Given the description of an element on the screen output the (x, y) to click on. 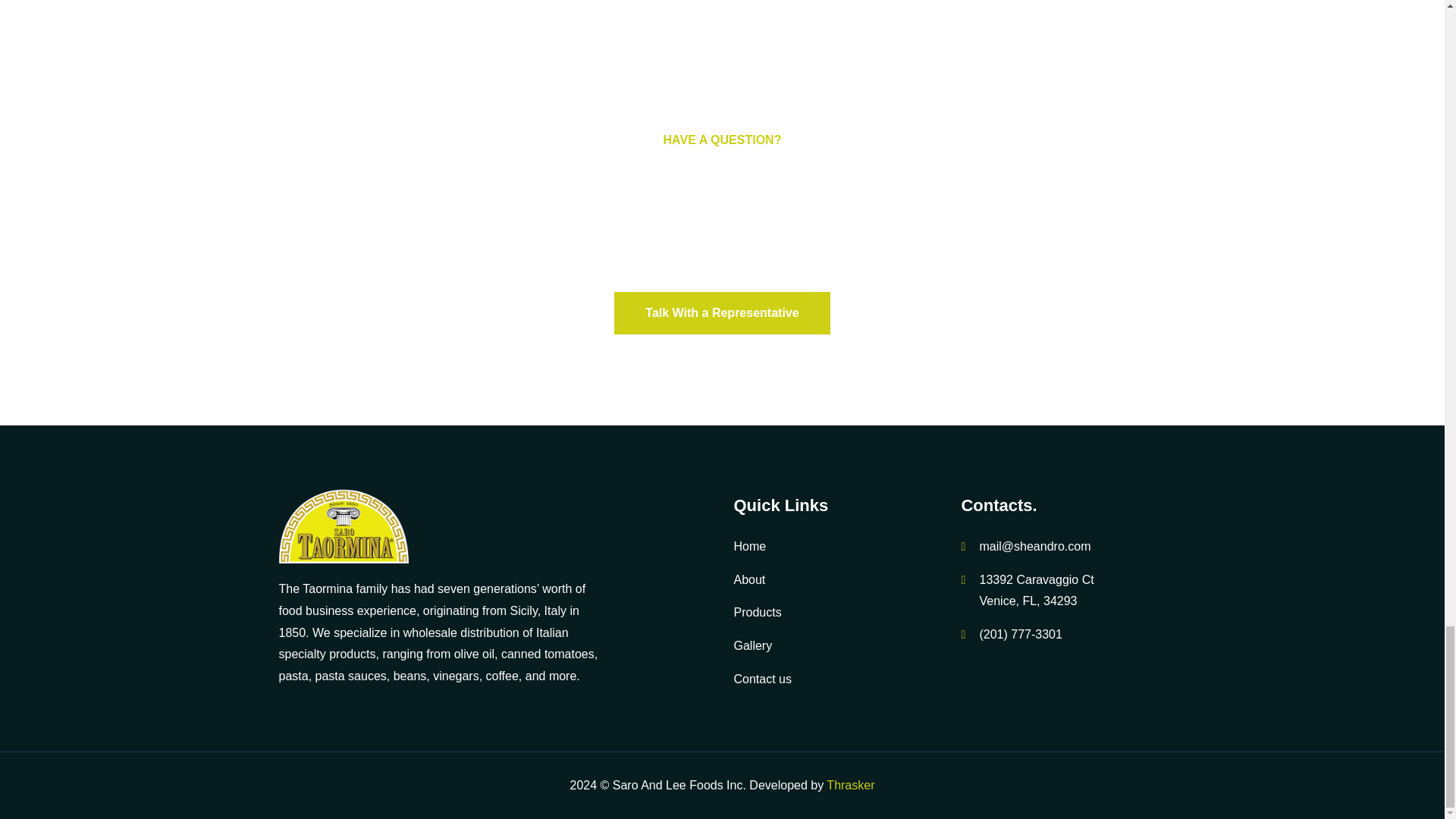
Products (756, 612)
Gallery (752, 645)
Home (749, 545)
Contact us (761, 678)
Thrasker (851, 784)
Talk With a Representative (721, 312)
About (749, 579)
